Given the description of an element on the screen output the (x, y) to click on. 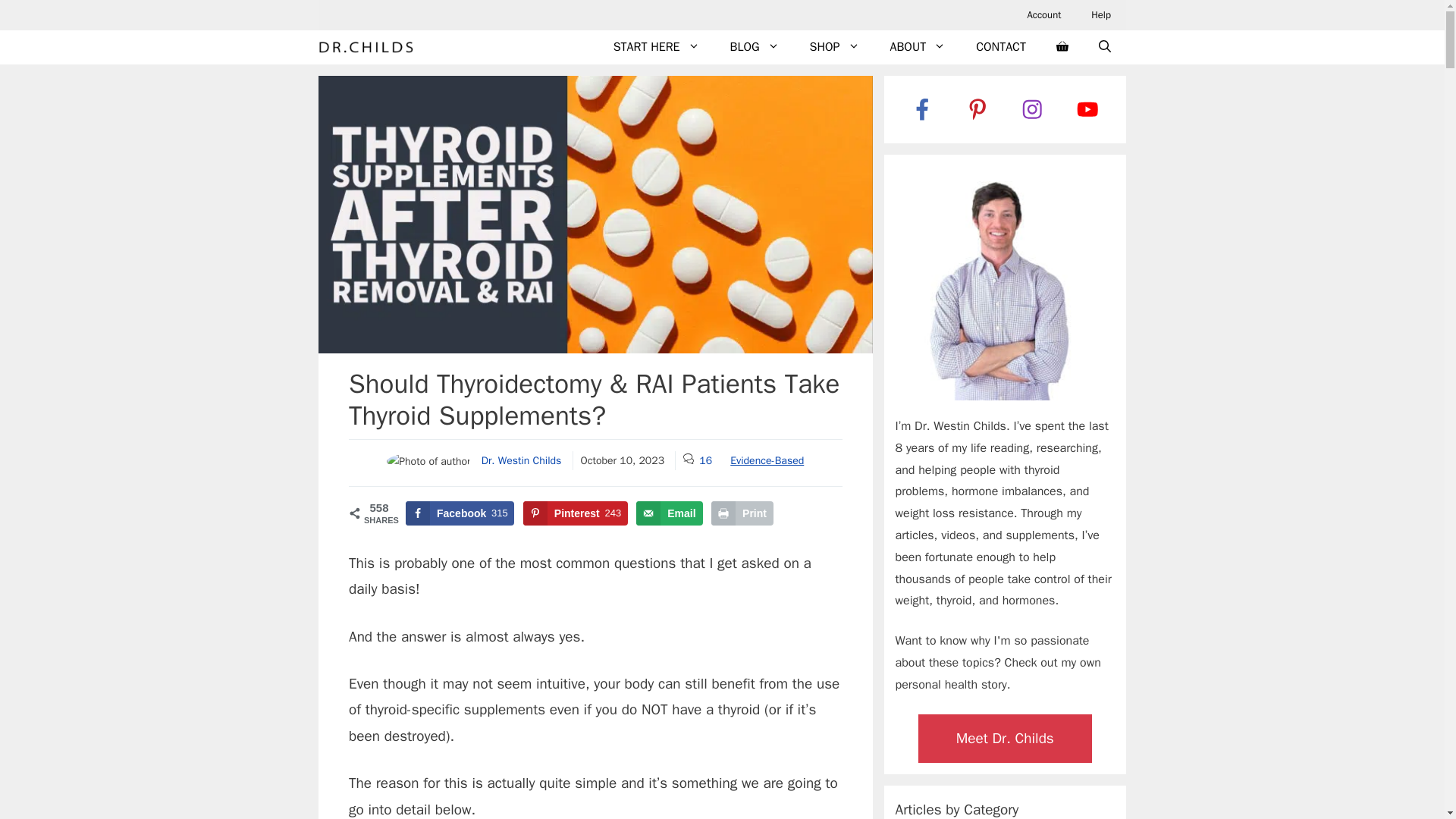
BLOG (754, 47)
Help (1100, 15)
SHOP (834, 47)
Start here (656, 47)
START HERE (656, 47)
Account (1043, 15)
Blog archive page (754, 47)
